Given the description of an element on the screen output the (x, y) to click on. 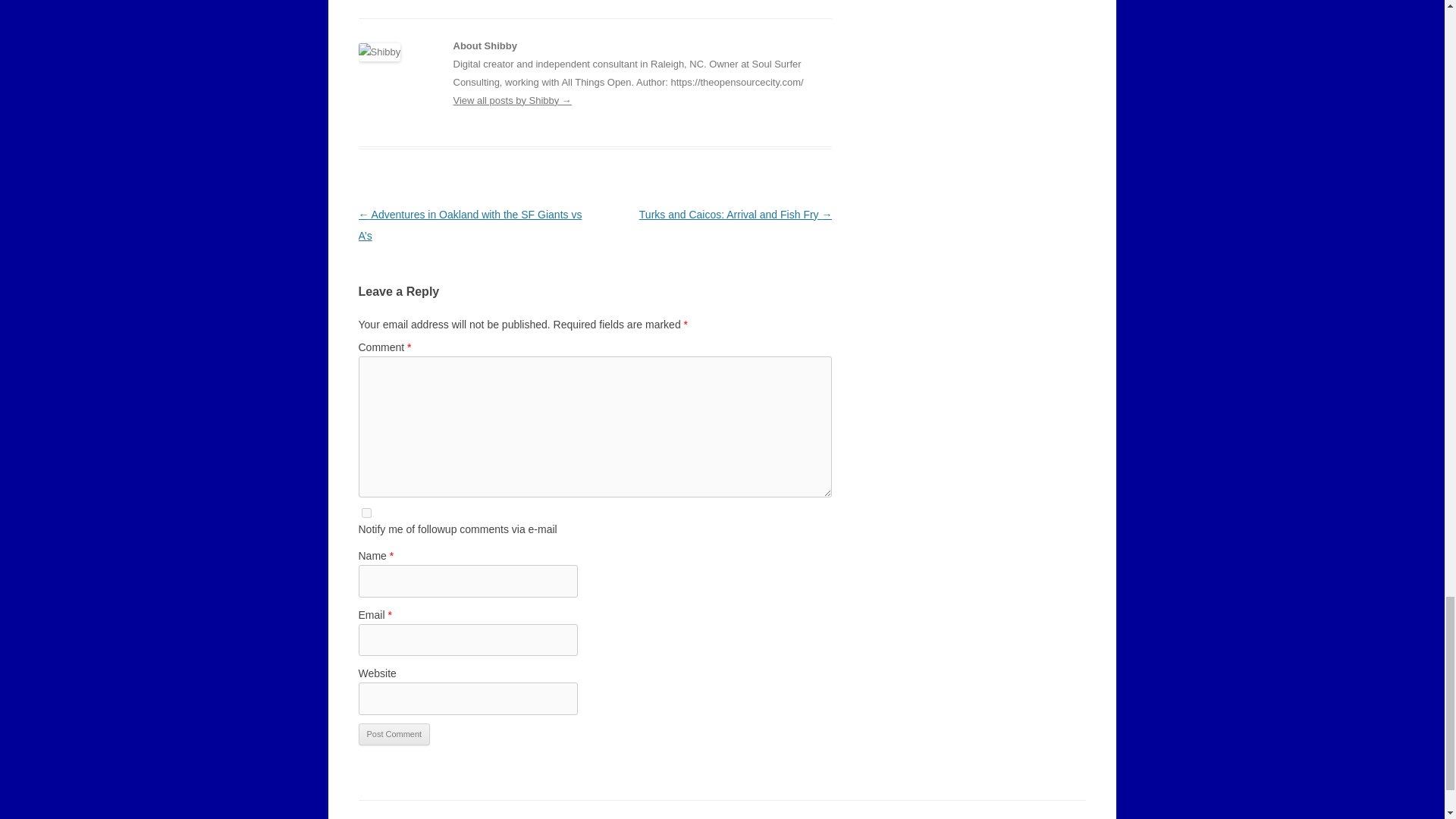
subscribe (366, 512)
Post Comment (393, 734)
Post Comment (393, 734)
